Given the description of an element on the screen output the (x, y) to click on. 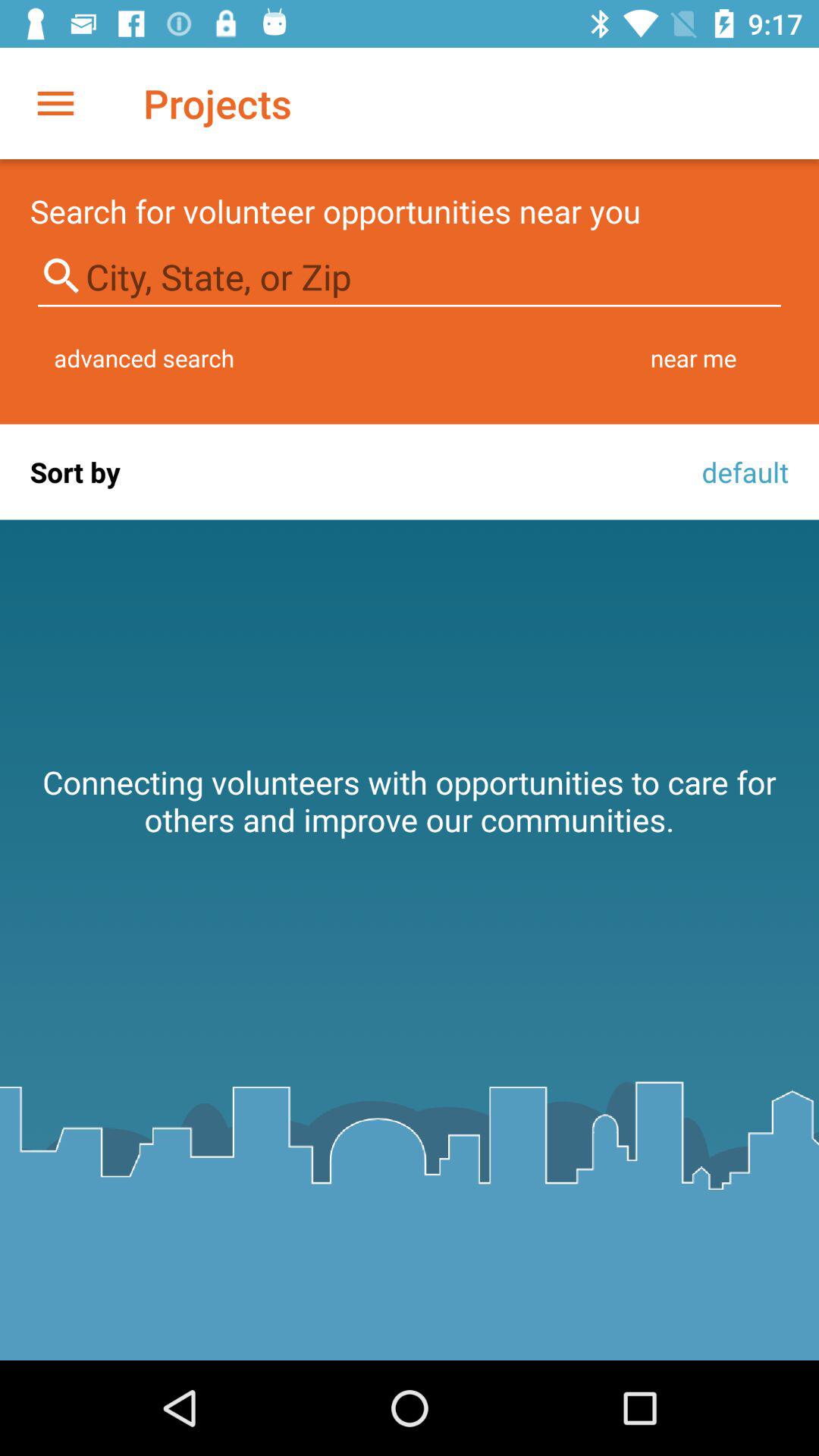
select item next to the advanced search (692, 358)
